Given the description of an element on the screen output the (x, y) to click on. 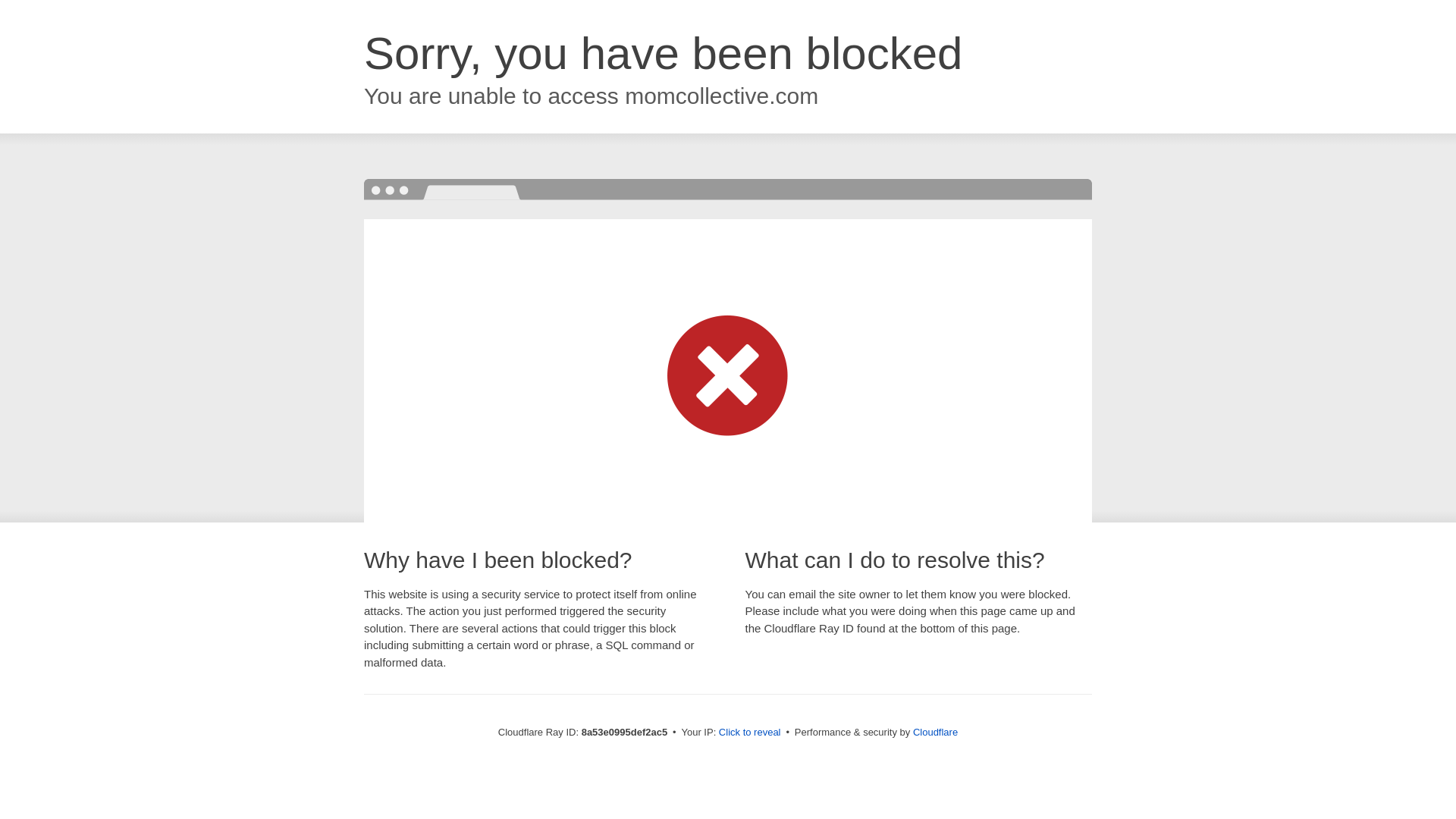
Cloudflare (935, 731)
Click to reveal (749, 732)
